Given the description of an element on the screen output the (x, y) to click on. 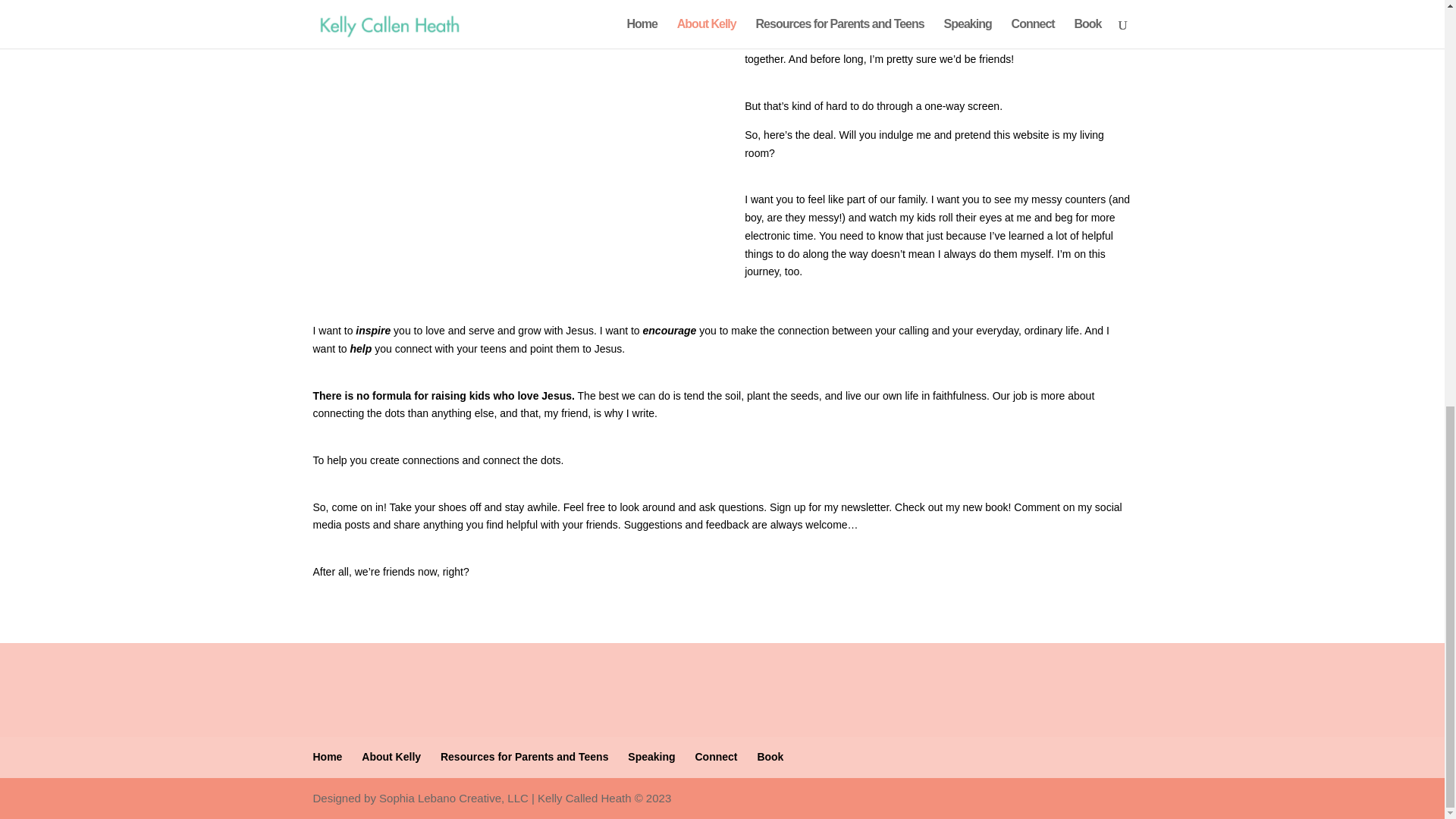
Speaking (651, 756)
Home (327, 756)
Book (770, 756)
Resources for Parents and Teens (524, 756)
Connect (715, 756)
FullSizeRender (505, 94)
About Kelly (390, 756)
